Given the description of an element on the screen output the (x, y) to click on. 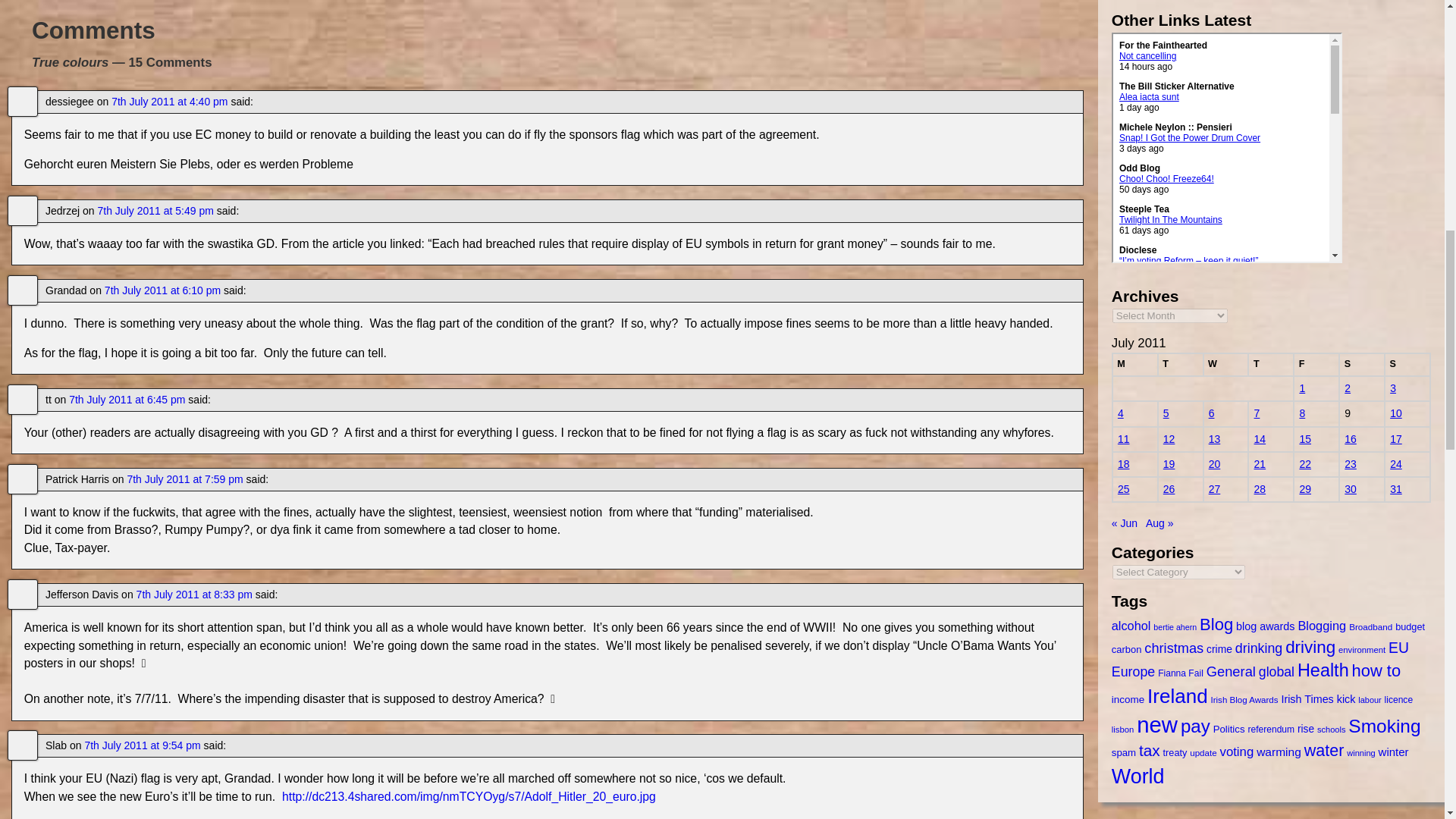
Friday (1316, 363)
Saturday (1361, 363)
Monday (1134, 363)
7th July 2011 at 5:49 pm (154, 210)
Wednesday (1226, 363)
7th July 2011 at 4:40 pm (169, 101)
Thursday (1270, 363)
Tuesday (1180, 363)
Sunday (1406, 363)
